Given the description of an element on the screen output the (x, y) to click on. 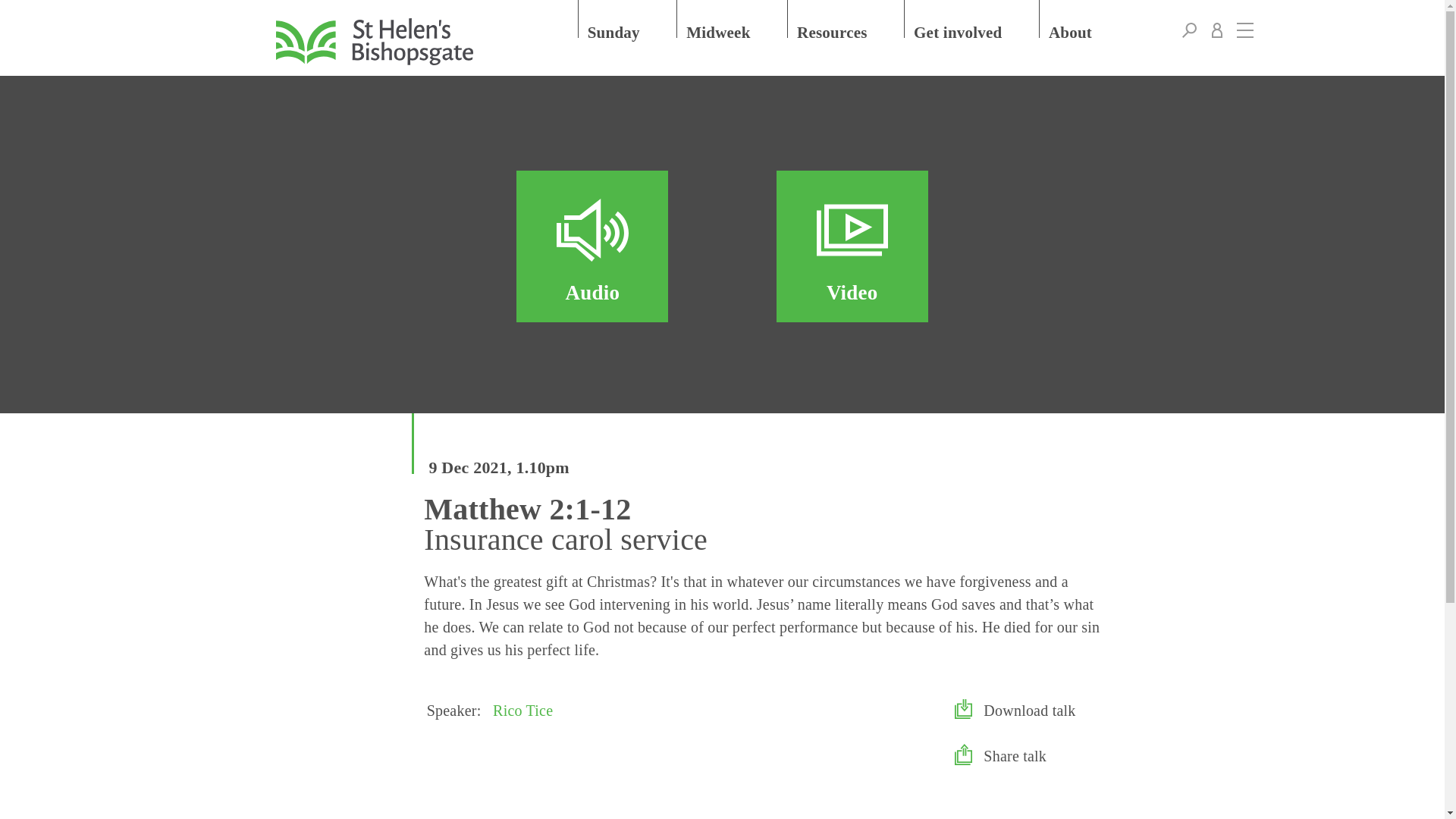
Sunday (628, 18)
Get involved (972, 18)
Resources (846, 18)
About (1085, 18)
Midweek (732, 18)
